Given the description of an element on the screen output the (x, y) to click on. 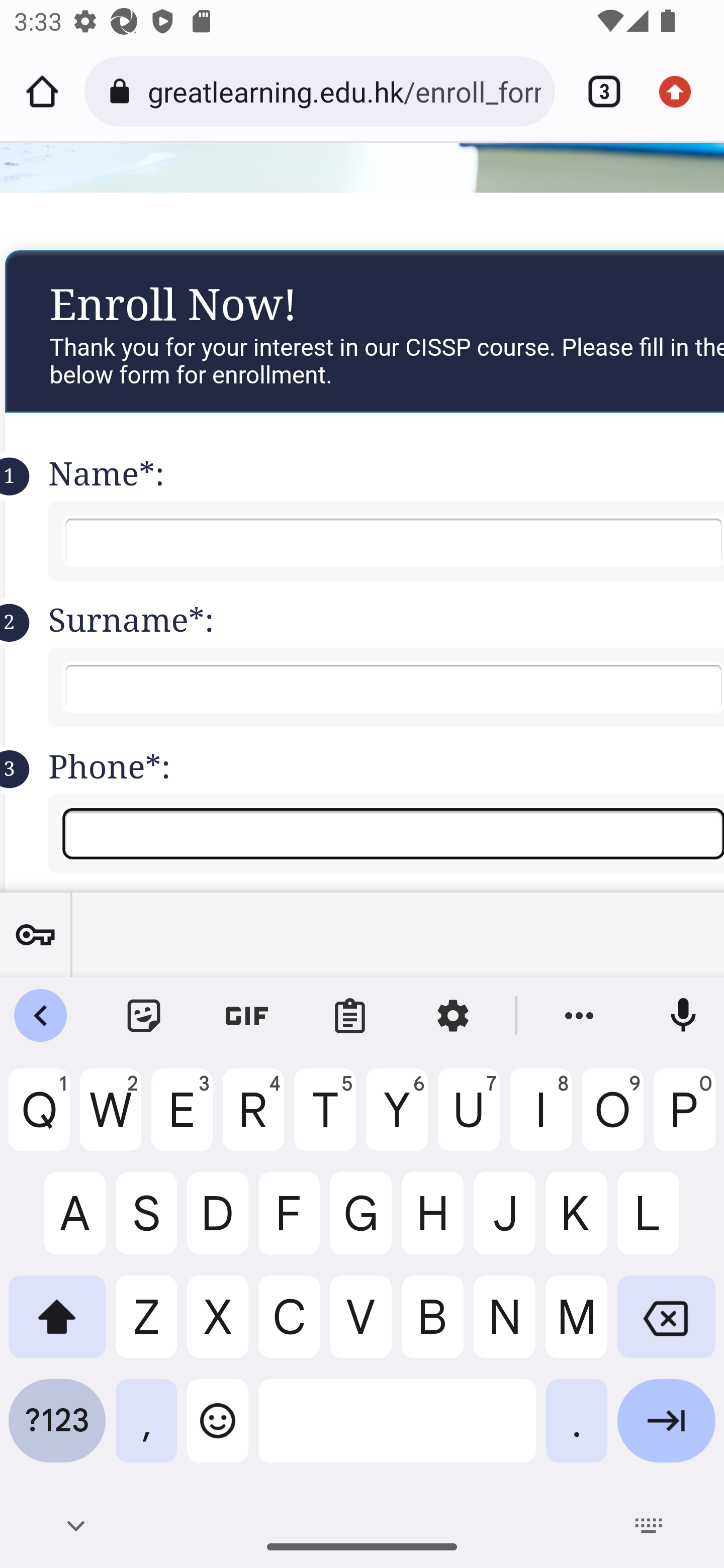
Home (42, 91)
Connection is secure (122, 91)
Switch or close tabs (597, 91)
Update available. More options (681, 91)
Show passwords (35, 934)
